Given the description of an element on the screen output the (x, y) to click on. 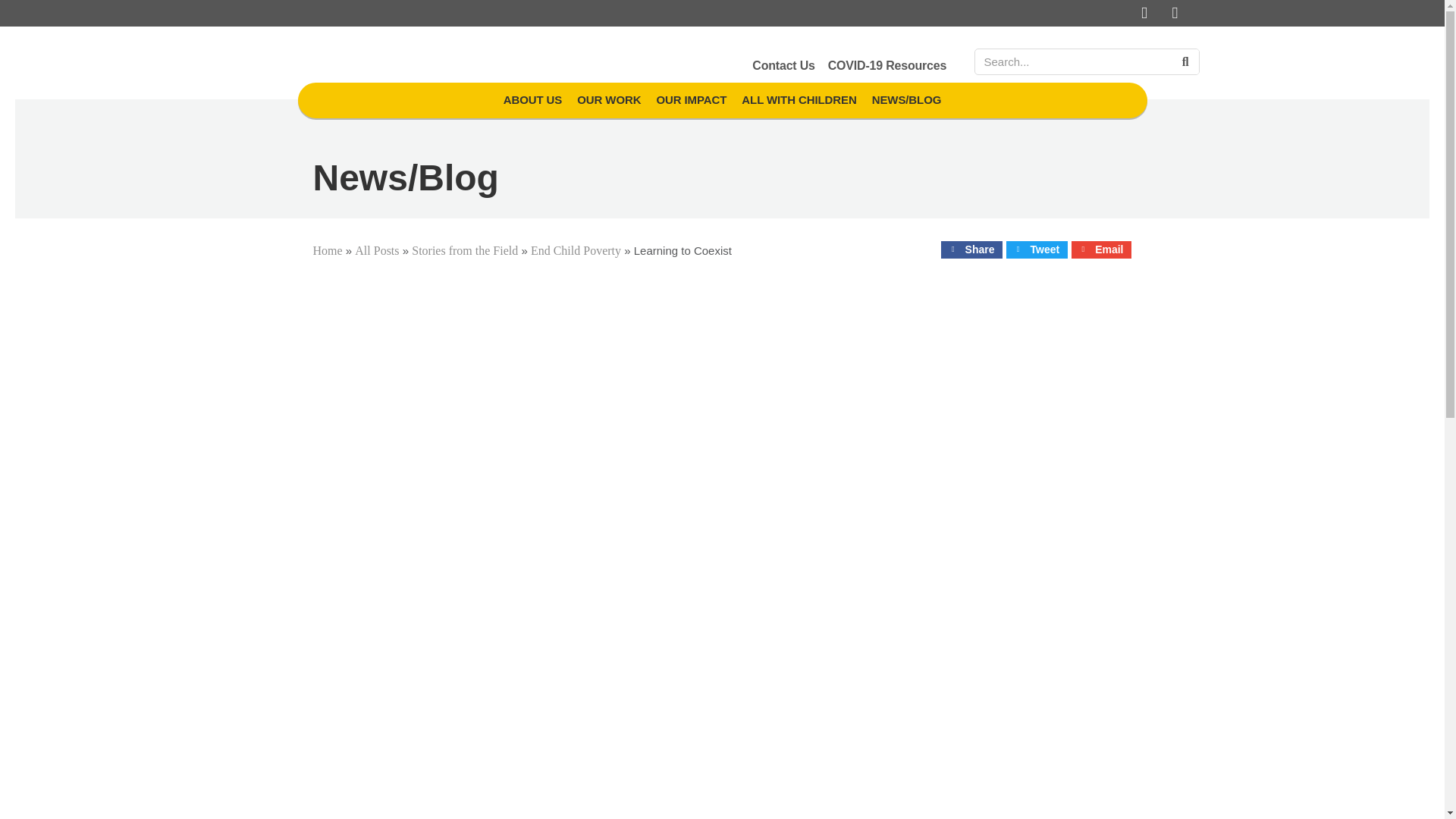
Youtube (1175, 13)
Search (1185, 61)
COVID-19 Resources (887, 65)
Facebook (1144, 13)
Contact Us (783, 65)
